Given the description of an element on the screen output the (x, y) to click on. 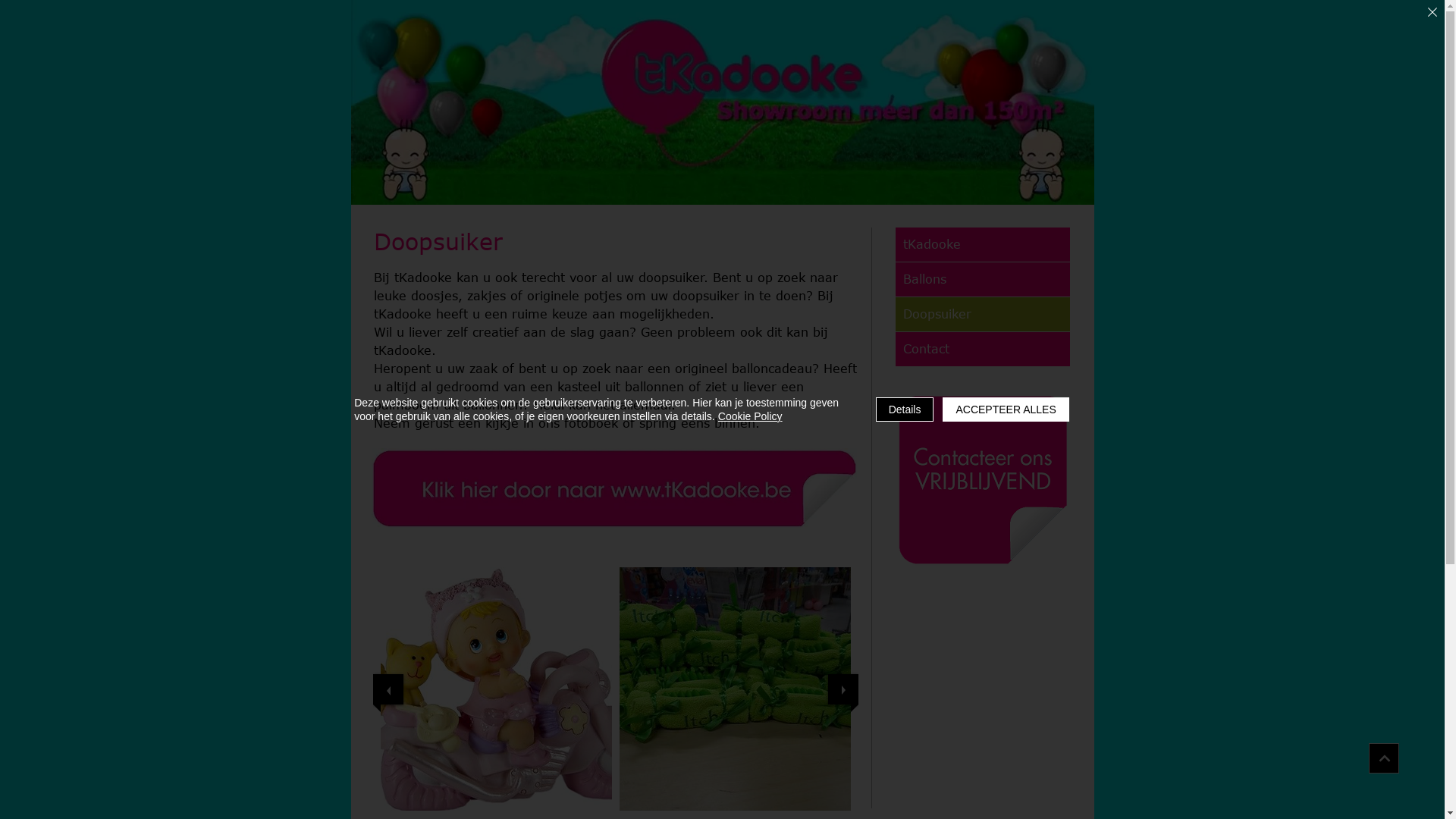
ACCEPTEER ALLES Element type: text (1005, 409)
Cookie Policy Element type: text (750, 416)
tKadooke Element type: text (981, 244)
Doopsuiker Element type: text (981, 314)
Details Element type: text (904, 409)
Contact Element type: text (981, 349)
Ballons Element type: text (981, 279)
